Given the description of an element on the screen output the (x, y) to click on. 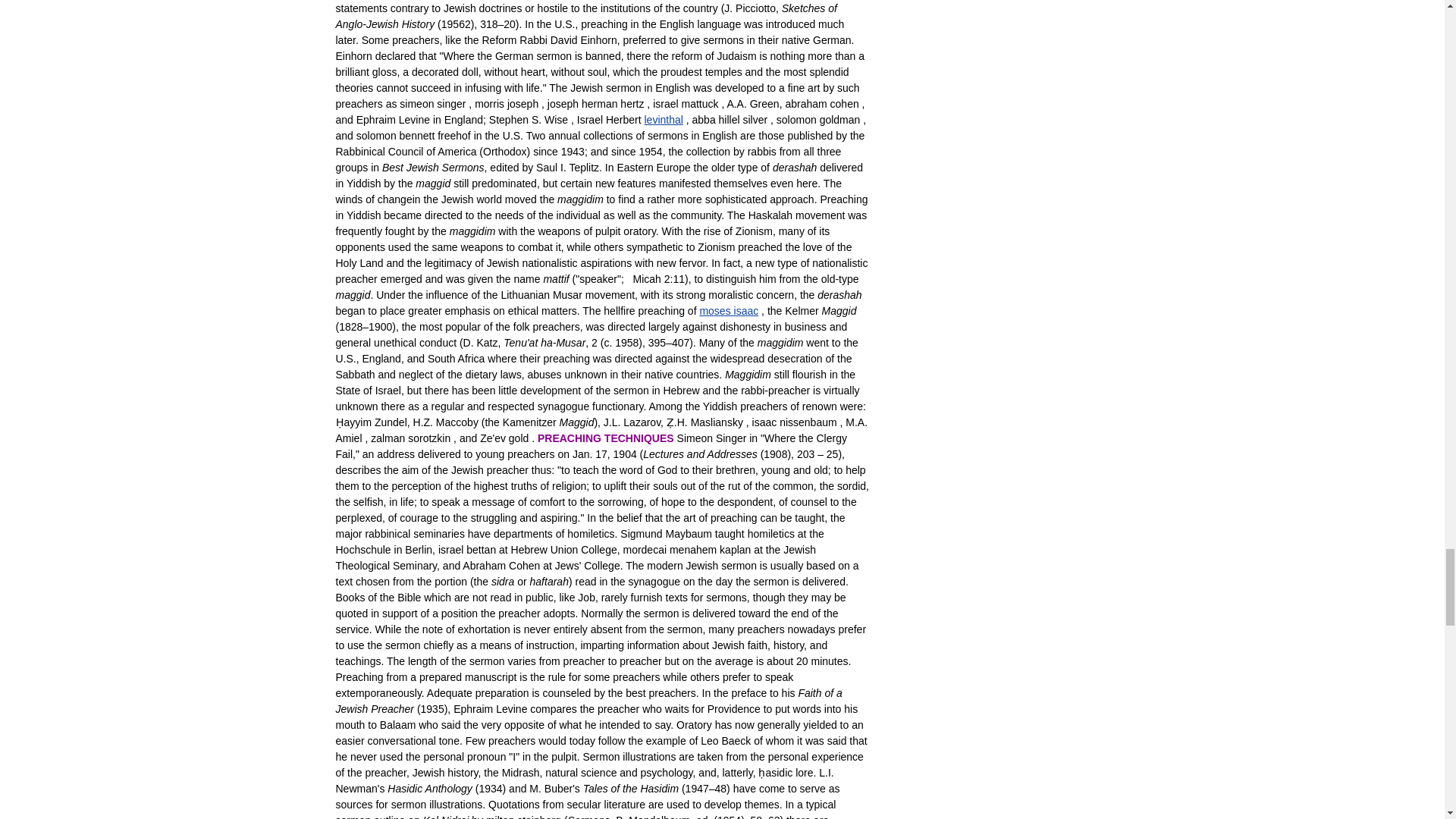
levinthal (663, 119)
moses isaac (728, 310)
